Given the description of an element on the screen output the (x, y) to click on. 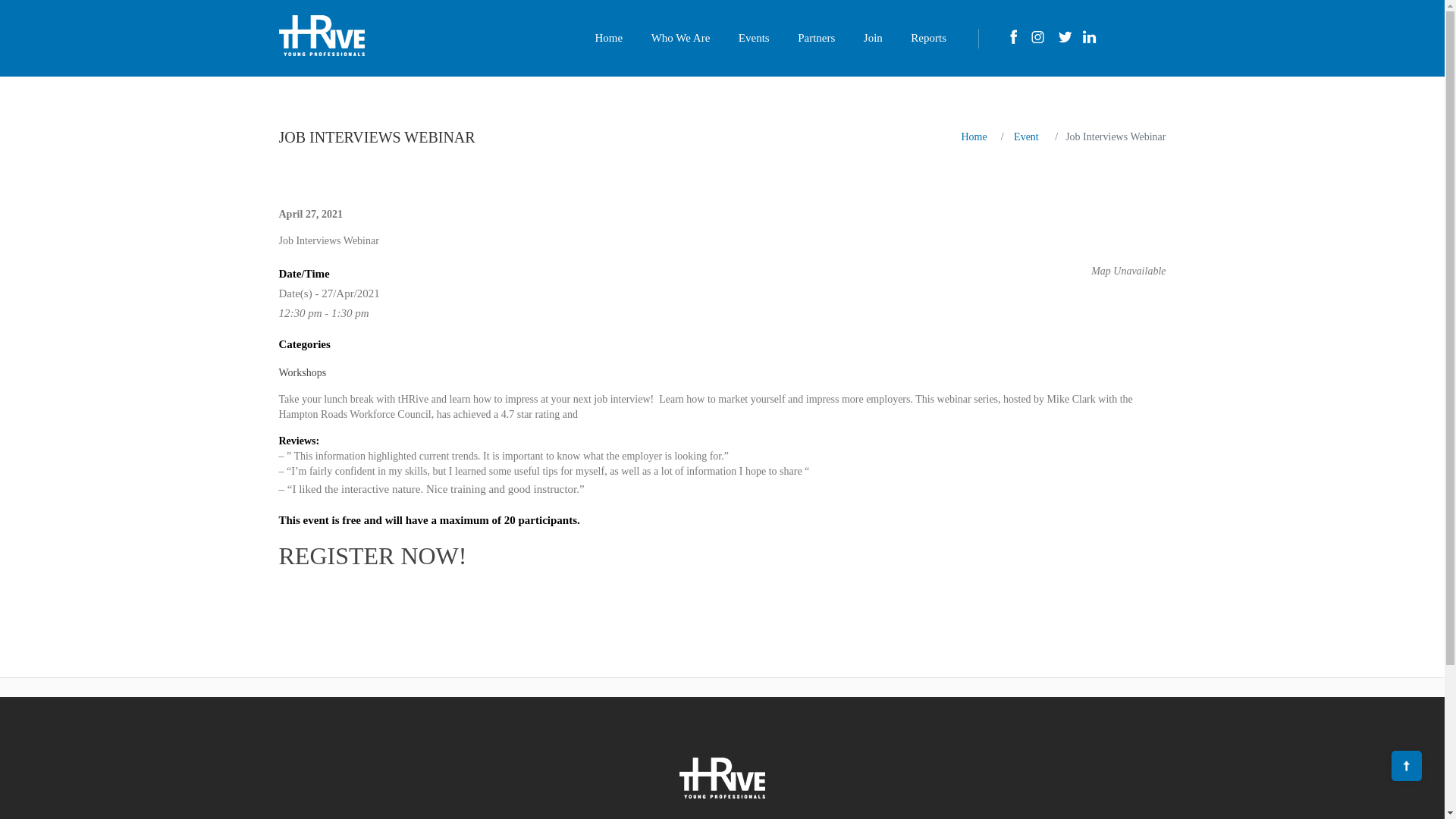
Tpthrive (322, 35)
REGISTER NOW!  (376, 555)
Home (973, 136)
Workshops (302, 372)
Event (1026, 136)
logo (722, 777)
